Given the description of an element on the screen output the (x, y) to click on. 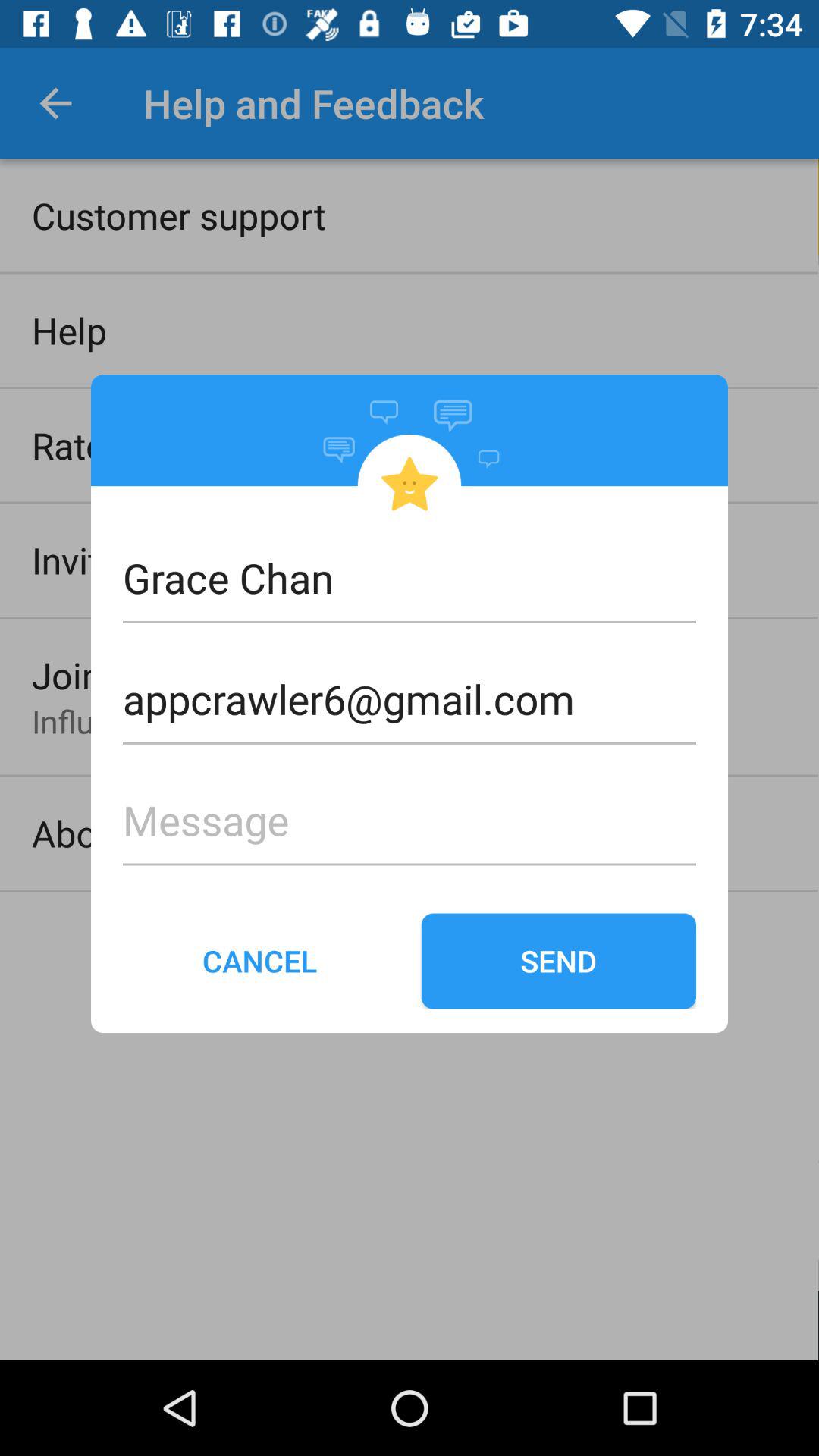
swipe to the appcrawler6@gmail.com (409, 674)
